Given the description of an element on the screen output the (x, y) to click on. 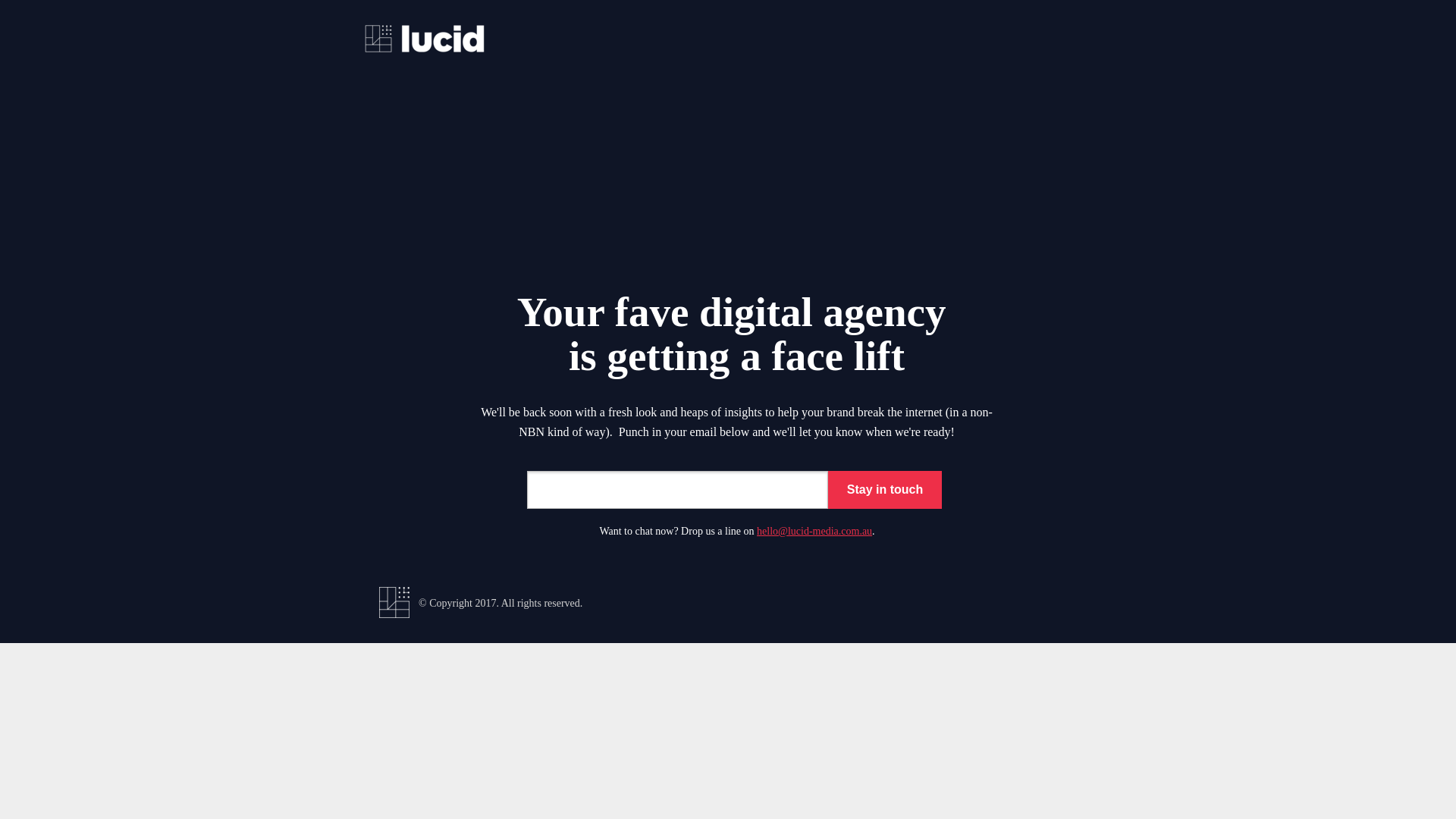
hello@lucid-media.com.au Element type: text (814, 530)
Stay in touch Element type: text (884, 489)
